Given the description of an element on the screen output the (x, y) to click on. 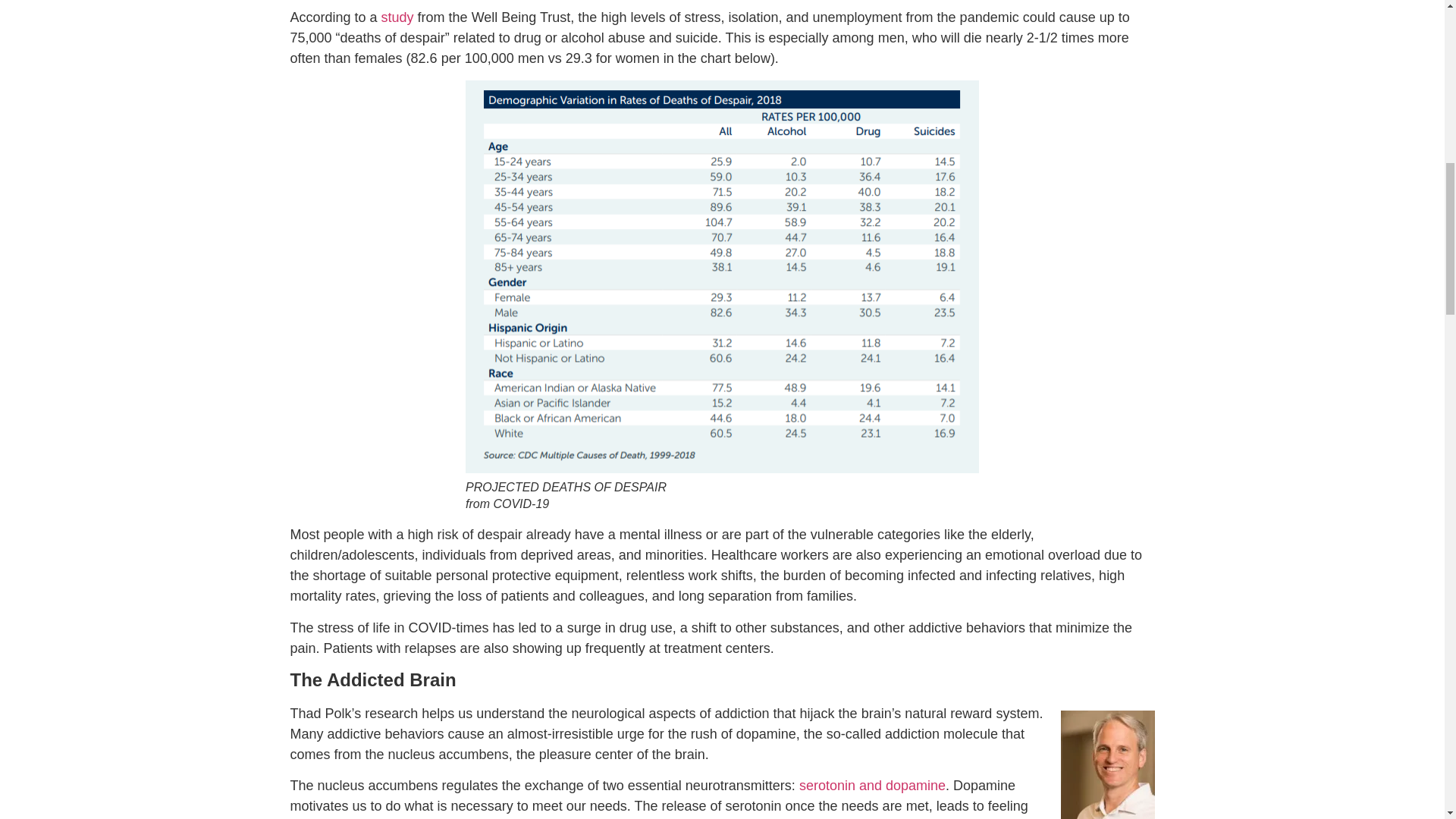
study (397, 17)
serotonin and dopamine (871, 785)
